Given the description of an element on the screen output the (x, y) to click on. 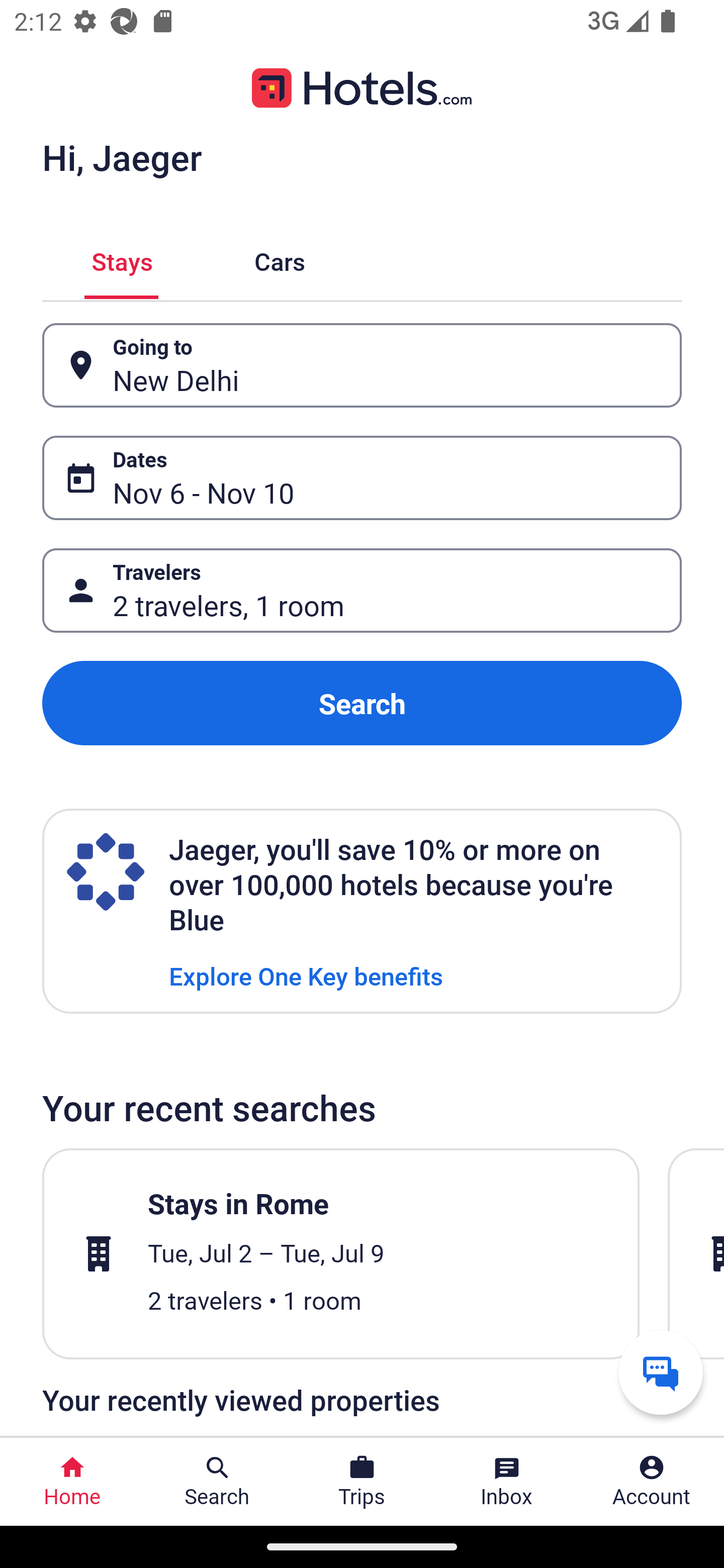
Hi, Jaeger (121, 156)
Cars (279, 259)
Going to Button New Delhi (361, 365)
Dates Button Nov 6 - Nov 10 (361, 477)
Travelers Button 2 travelers, 1 room (361, 590)
Search (361, 702)
Get help from a virtual agent (660, 1371)
Search Search Button (216, 1481)
Trips Trips Button (361, 1481)
Inbox Inbox Button (506, 1481)
Account Profile. Button (651, 1481)
